Given the description of an element on the screen output the (x, y) to click on. 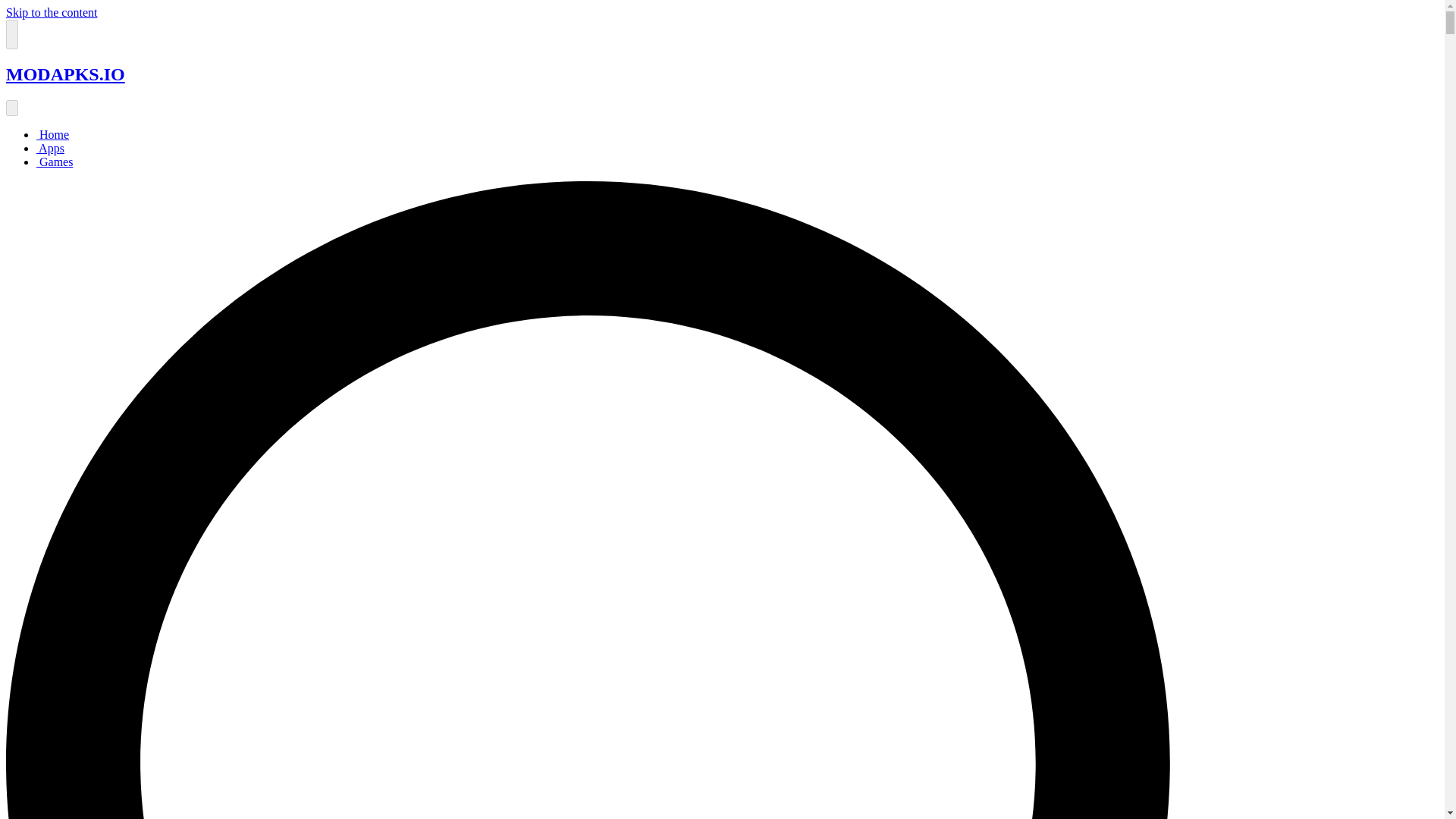
Skip to the content (51, 11)
 Apps (50, 147)
MODAPKS.IO (65, 74)
 Games (54, 161)
 Home (52, 133)
